Given the description of an element on the screen output the (x, y) to click on. 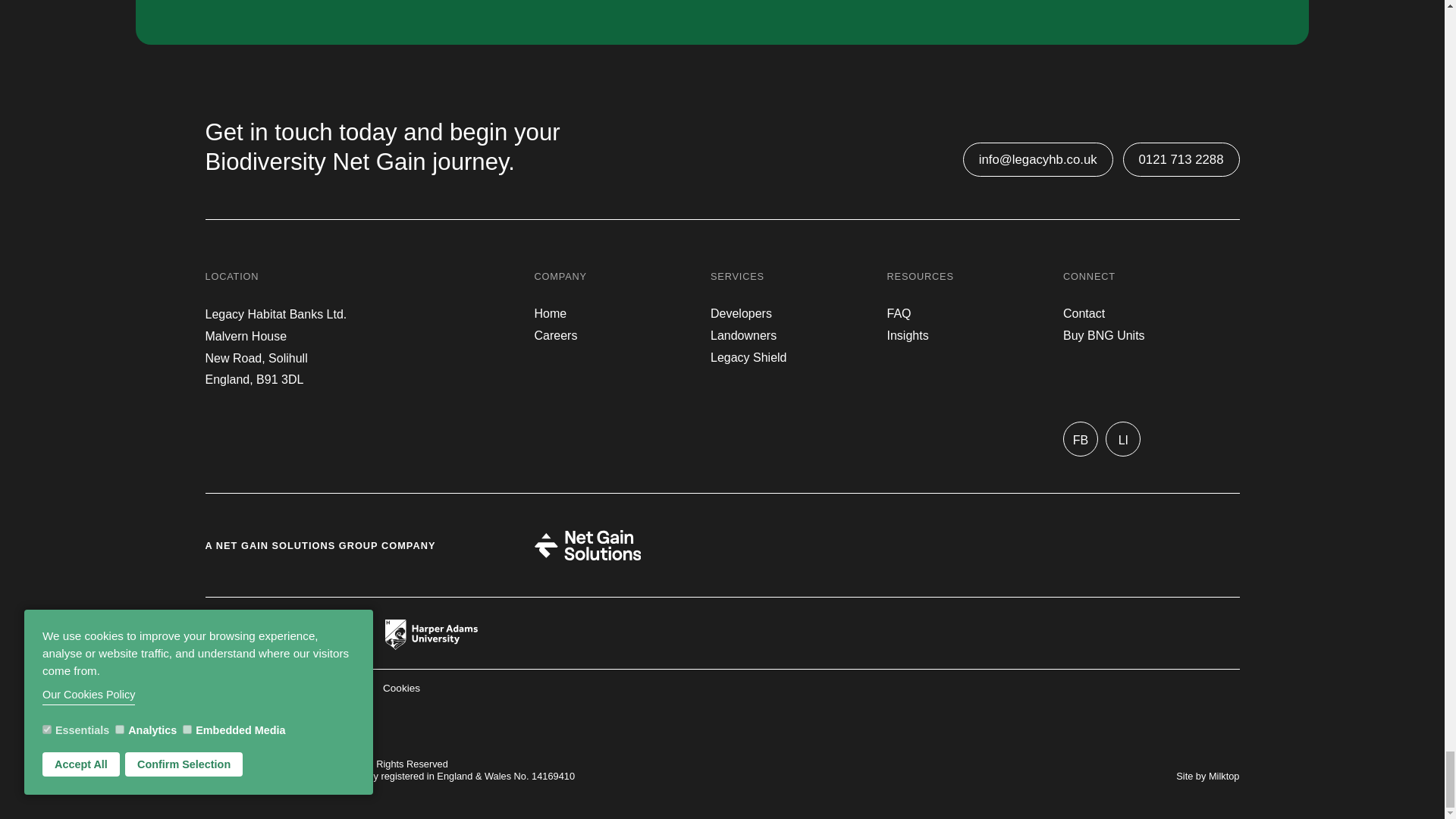
Contact (1083, 313)
Email Legacy Habitat Banks Ltd. (1037, 159)
View Legacy Habitat Banks Ltd. on Google Maps (275, 347)
Net Gain Solutions (587, 544)
Buy BNG Units (1103, 335)
FB (1079, 438)
Careers (560, 335)
Home (550, 313)
Legacy Shield (748, 357)
